Given the description of an element on the screen output the (x, y) to click on. 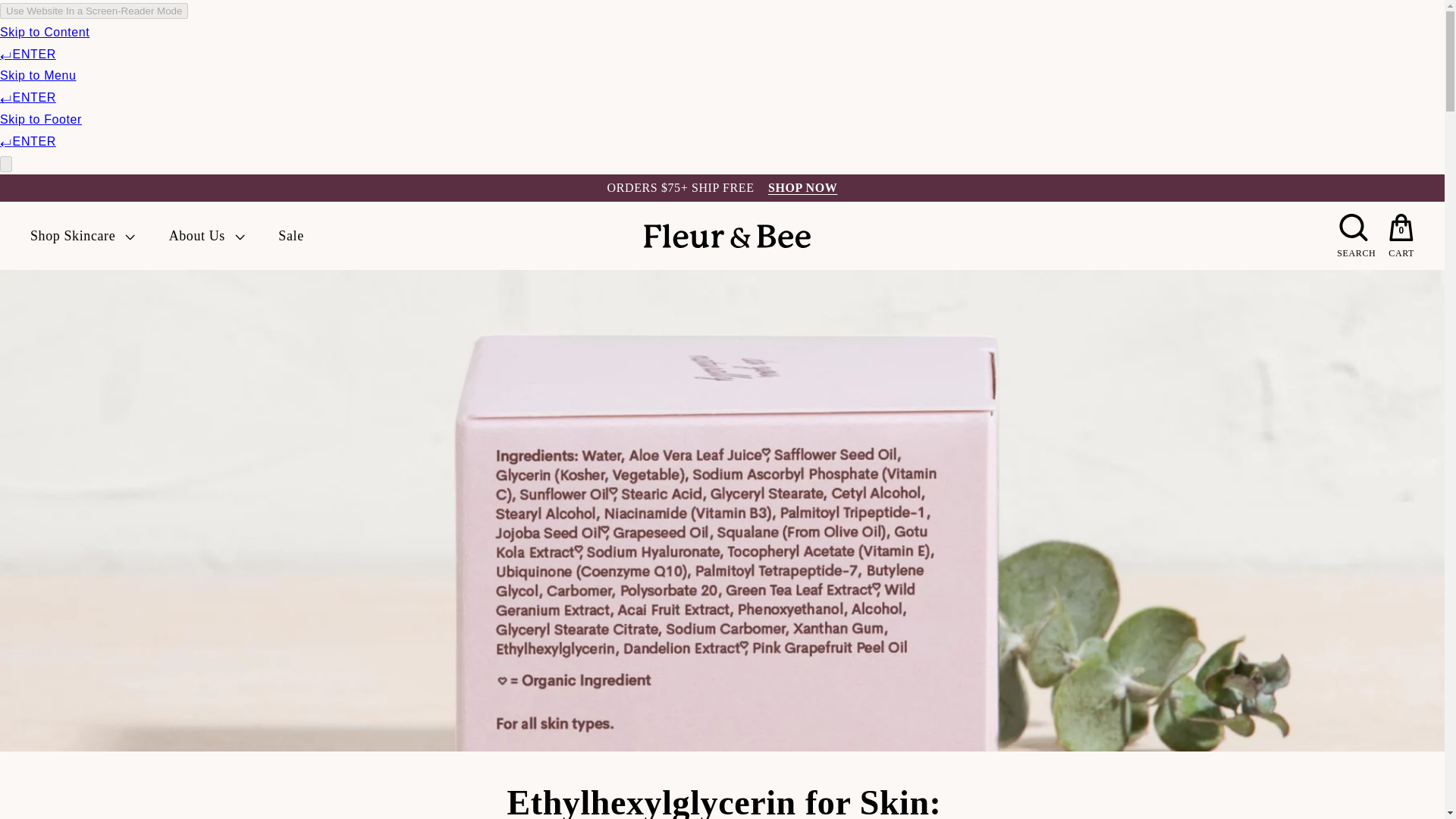
Sale (290, 235)
Skip to content (14, 8)
